Given the description of an element on the screen output the (x, y) to click on. 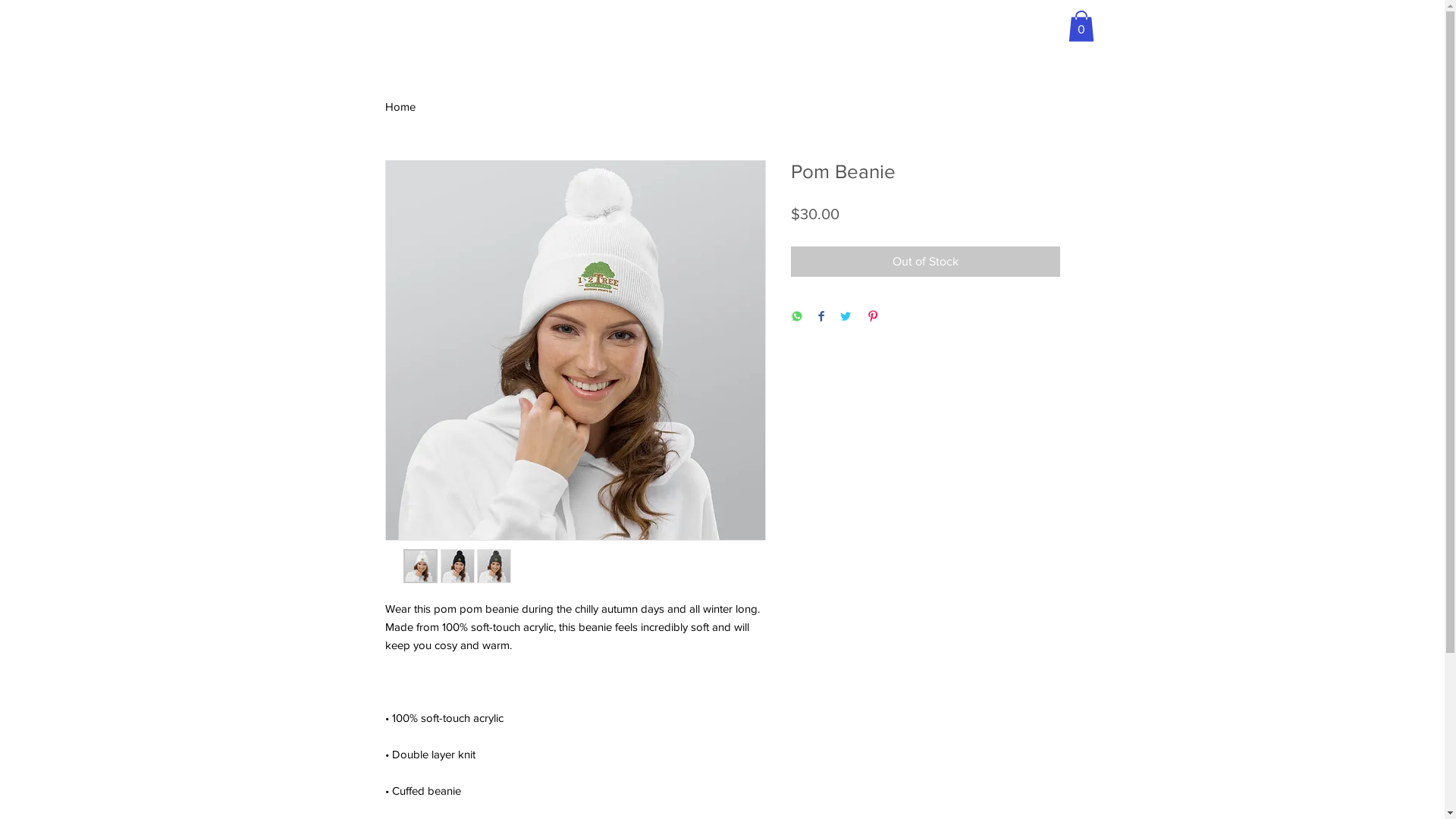
Home Element type: text (400, 106)
0 Element type: text (1080, 25)
Out of Stock Element type: text (924, 261)
